Given the description of an element on the screen output the (x, y) to click on. 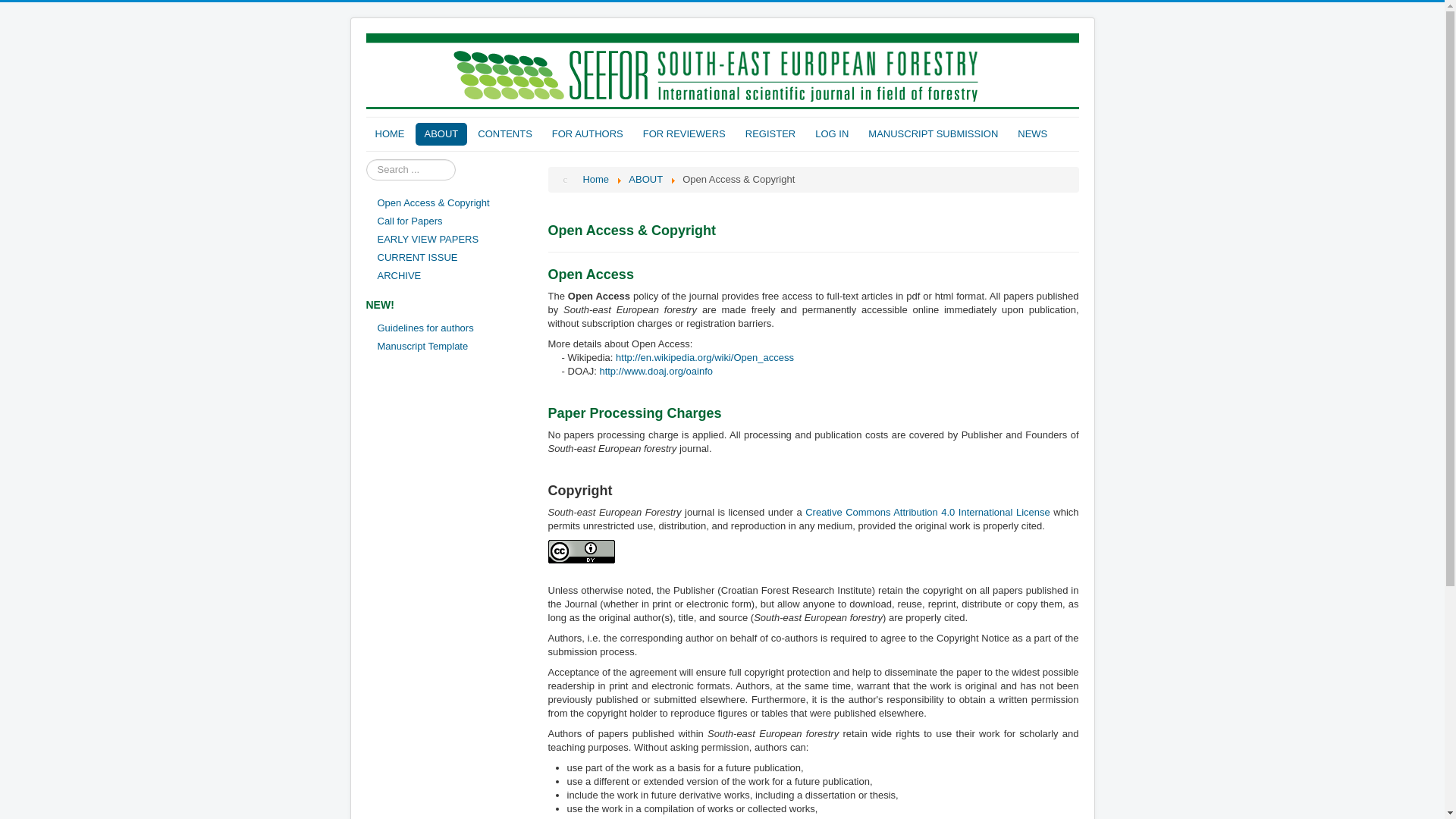
NEWS (1033, 133)
ARCHIVE (448, 275)
EARLY VIEW PAPERS (448, 239)
FOR REVIEWERS (684, 133)
FOR AUTHORS (587, 133)
CURRENT ISSUE (448, 257)
ABOUT (440, 133)
LOG IN (831, 133)
HOME (389, 133)
Guidelines for authors (448, 328)
